Given the description of an element on the screen output the (x, y) to click on. 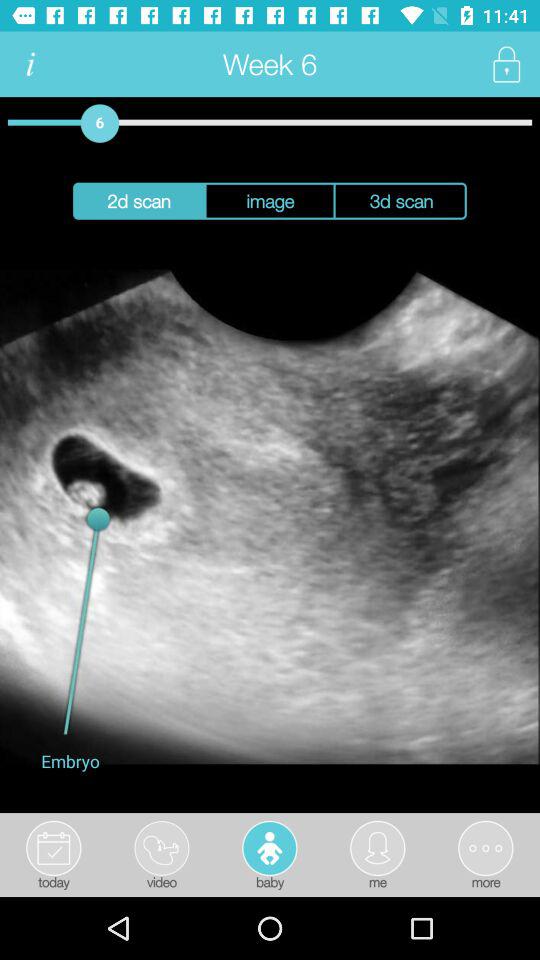
toggle to lock (506, 63)
